Given the description of an element on the screen output the (x, y) to click on. 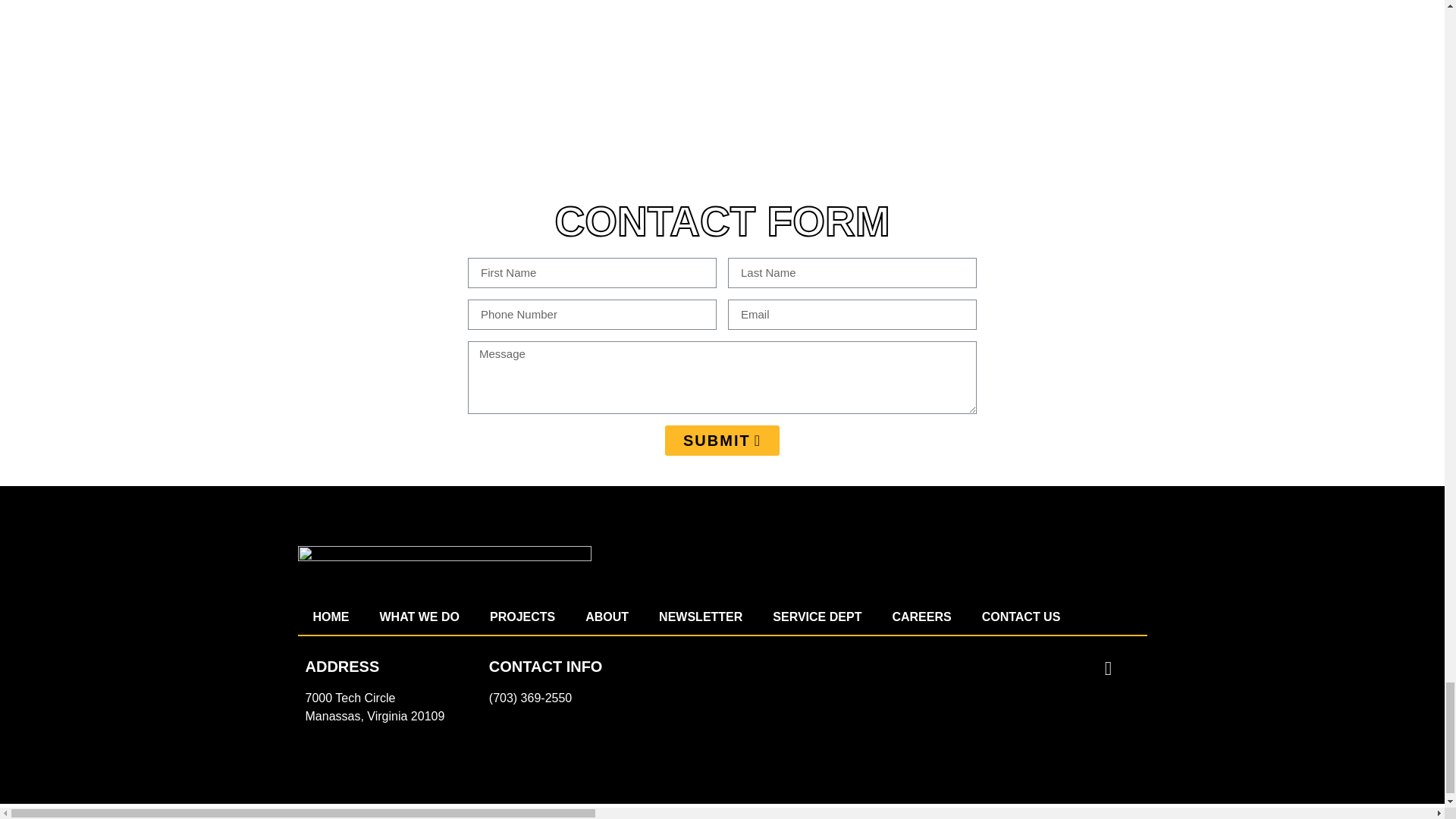
HOME (330, 616)
WHAT WE DO (419, 616)
SUBMIT (721, 440)
SERVICE DEPT (816, 616)
PROJECTS (522, 616)
ABOUT (606, 616)
NEWSLETTER (700, 616)
